Given the description of an element on the screen output the (x, y) to click on. 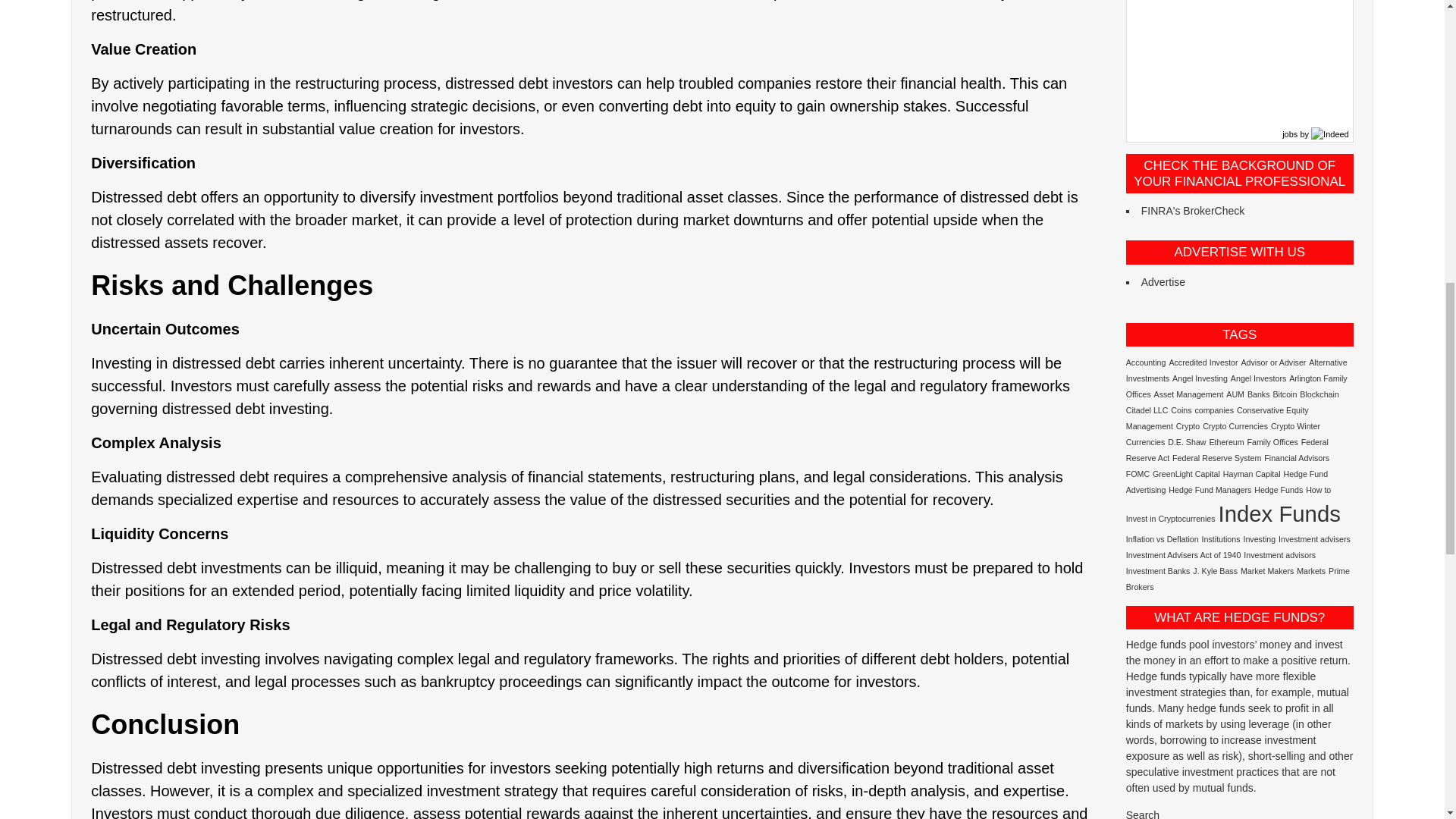
jobs by (1315, 133)
Arlington Family Offices (1236, 385)
Job Search (1315, 133)
Alternative Investments (1236, 370)
Advisor or Adviser (1273, 361)
Asset Management (1189, 393)
companies (1213, 409)
Blockchain (1319, 393)
Accredited Investor (1203, 361)
Financial Professional Check (1192, 210)
CLICK HERE  TO ADVERTISE WITH US (1163, 282)
FINRA's BrokerCheck (1192, 210)
Accounting (1145, 361)
Bitcoin (1284, 393)
AUM (1234, 393)
